Given the description of an element on the screen output the (x, y) to click on. 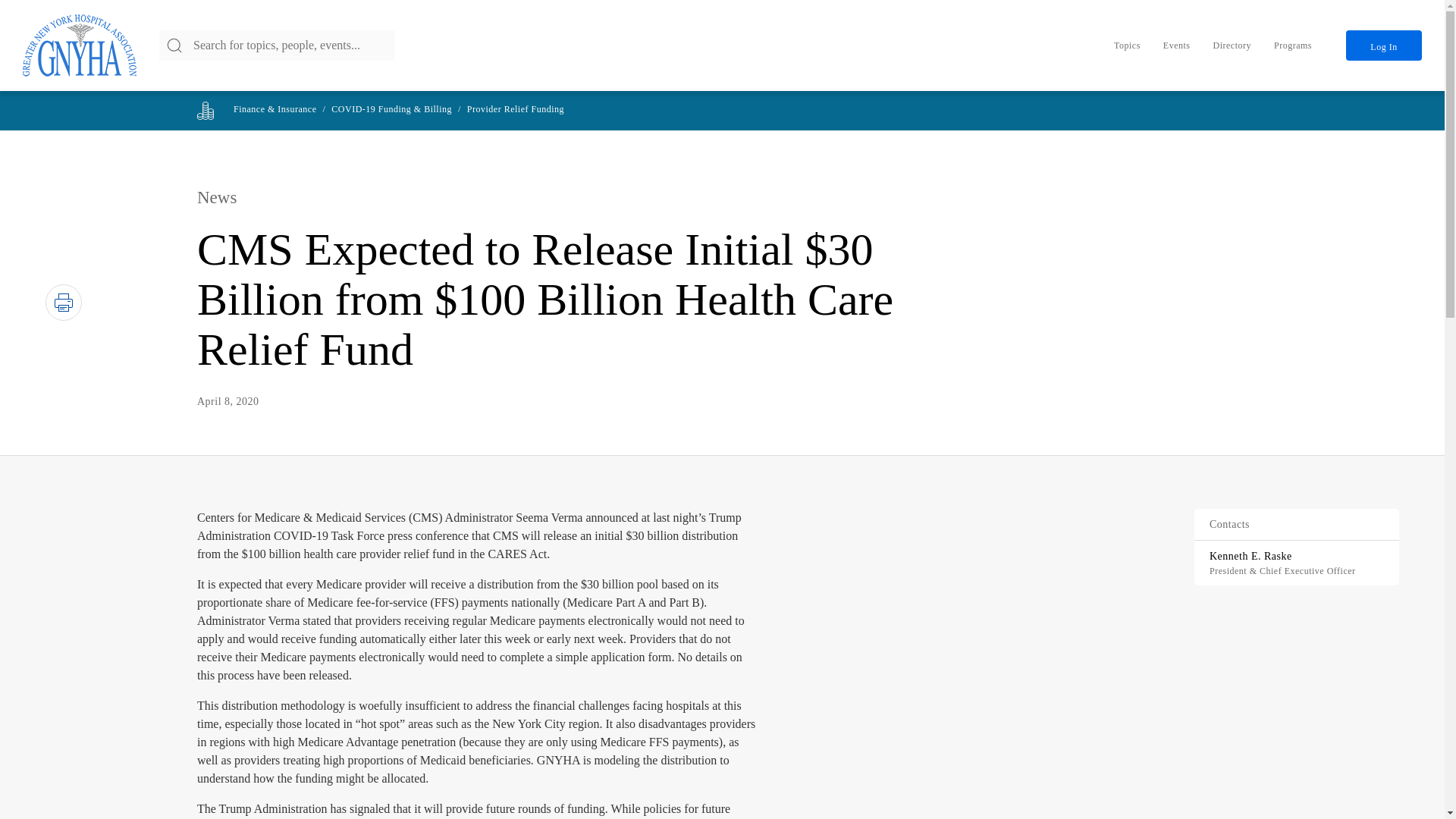
Log In (1383, 45)
Programs (1292, 45)
Events (1177, 45)
Topics (1126, 45)
Provider Relief Funding (515, 109)
Greater New York Hospital Association (79, 45)
Directory (1231, 45)
